Given the description of an element on the screen output the (x, y) to click on. 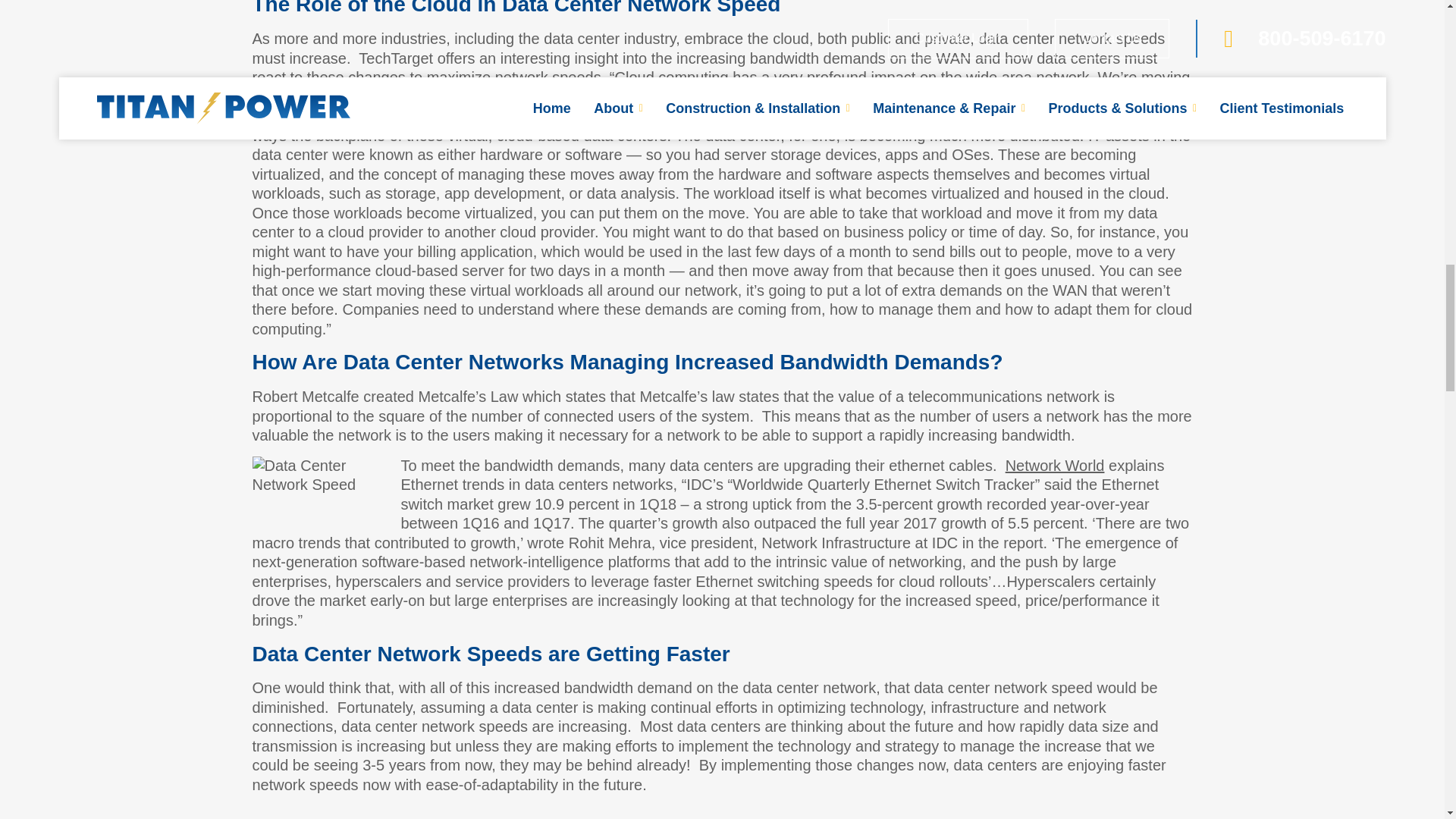
Data Center Network Speed (319, 494)
